Given the description of an element on the screen output the (x, y) to click on. 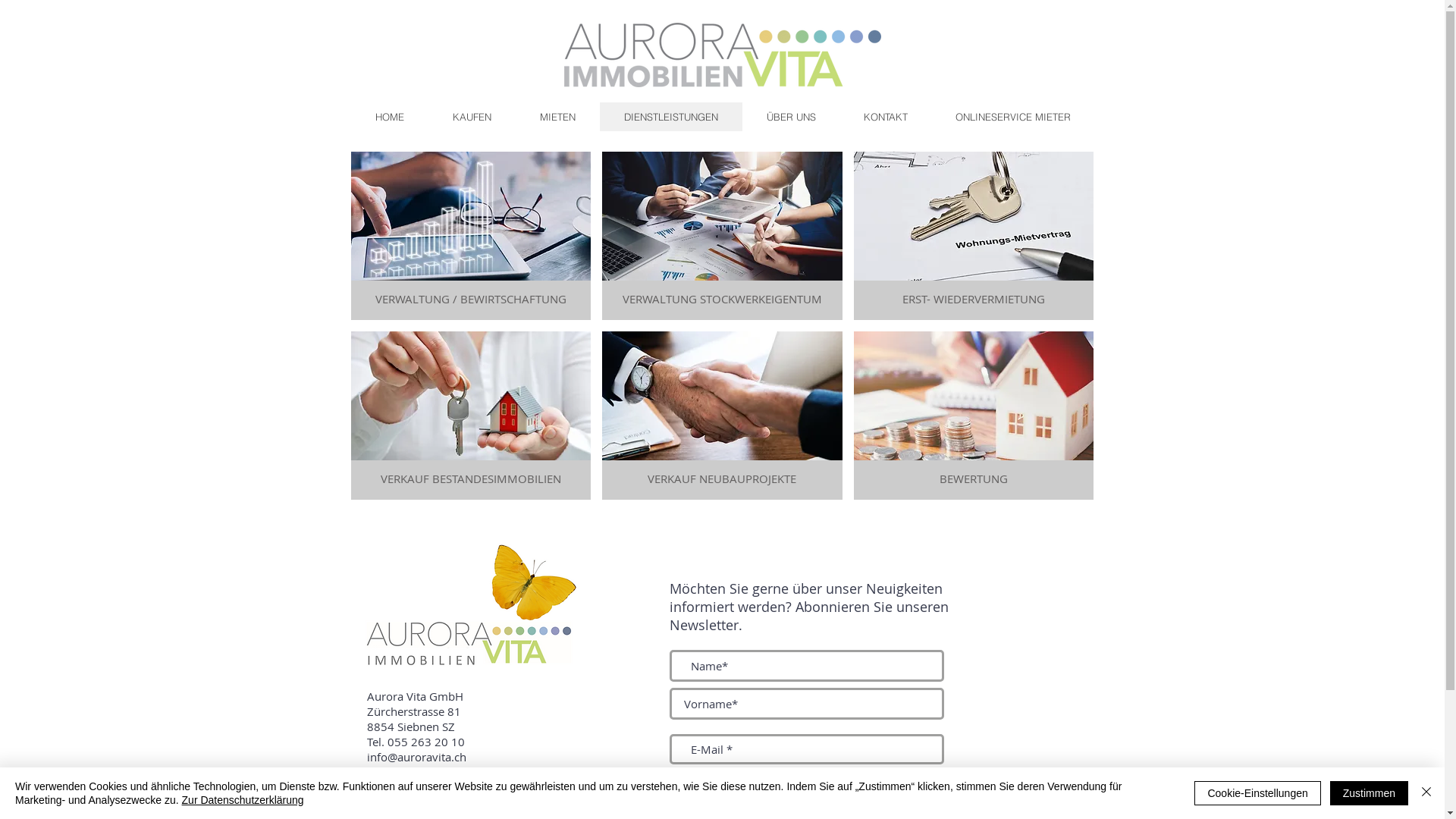
info@auroravita.ch Element type: text (416, 756)
Cookie-Einstellungen Element type: text (1257, 793)
Zustimmen Element type: text (1369, 793)
VERWALTUNG / BEWIRTSCHAFTUNG Element type: text (470, 235)
BEWERTUNG Element type: text (973, 415)
VERWALTUNG STOCKWERKEIGENTUM Element type: text (722, 235)
DIENSTLEISTUNGEN Element type: text (670, 116)
KONTAKT Element type: text (884, 116)
VERKAUF NEUBAUPROJEKTE Element type: text (722, 415)
VERKAUF BESTANDESIMMOBILIEN Element type: text (470, 415)
MIETEN Element type: text (557, 116)
ERST- WIEDERVERMIETUNG Element type: text (973, 235)
ONLINESERVICE MIETER Element type: text (1012, 116)
HOME Element type: text (389, 116)
KAUFEN Element type: text (470, 116)
